Given the description of an element on the screen output the (x, y) to click on. 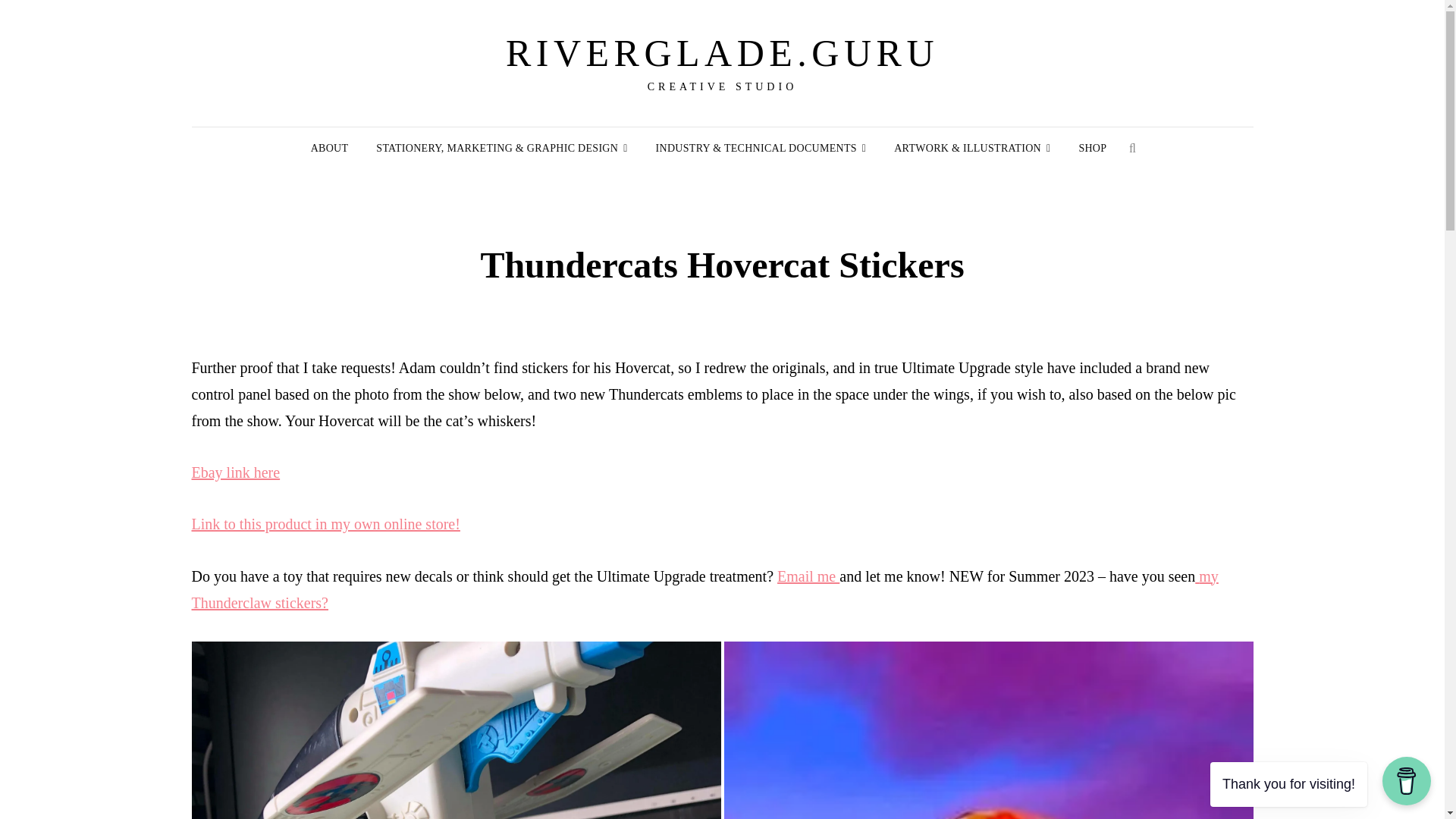
ABOUT (329, 148)
RIVERGLADE.GURU (722, 52)
